Given the description of an element on the screen output the (x, y) to click on. 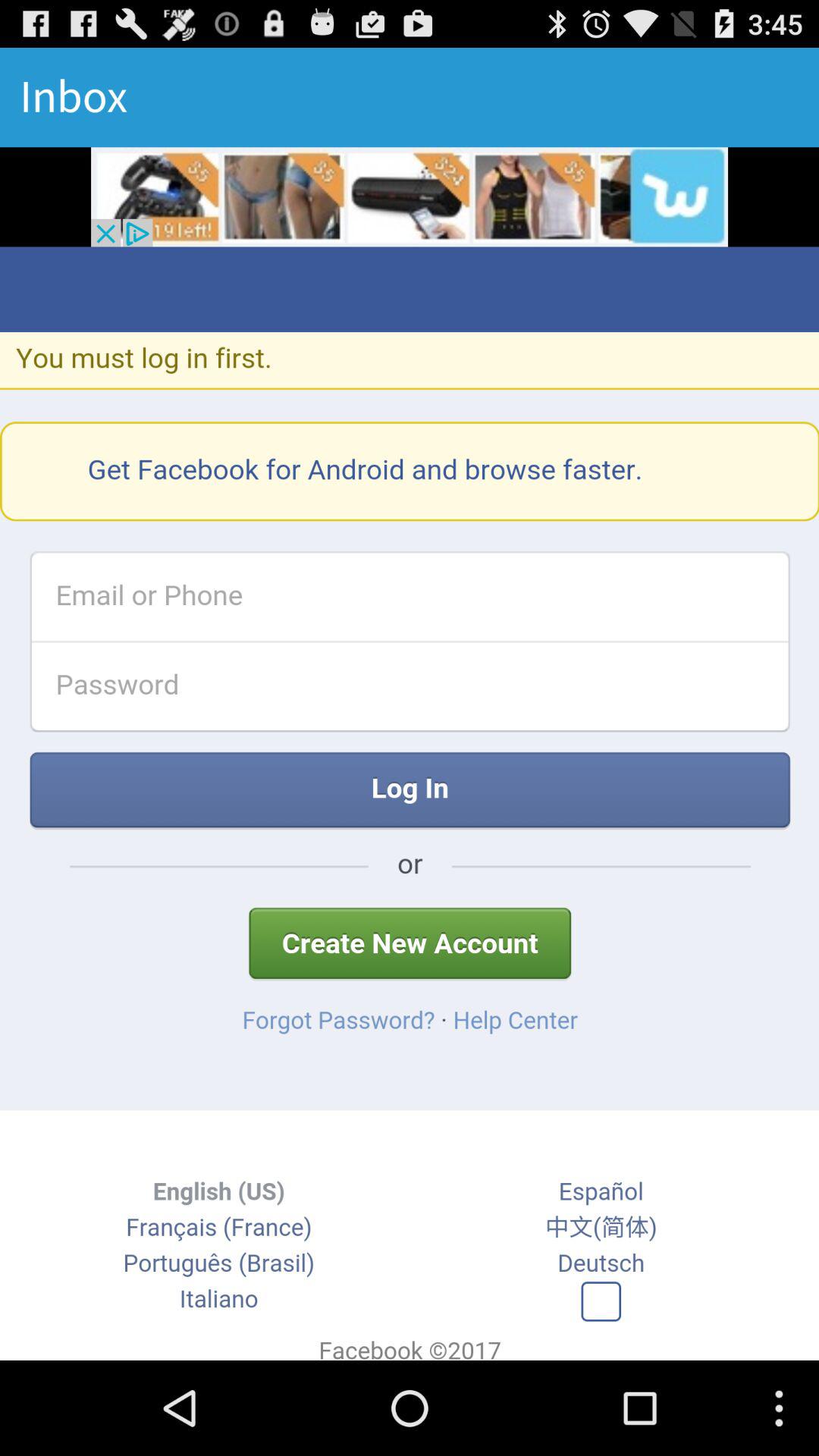
go to advertisement website (409, 196)
